Given the description of an element on the screen output the (x, y) to click on. 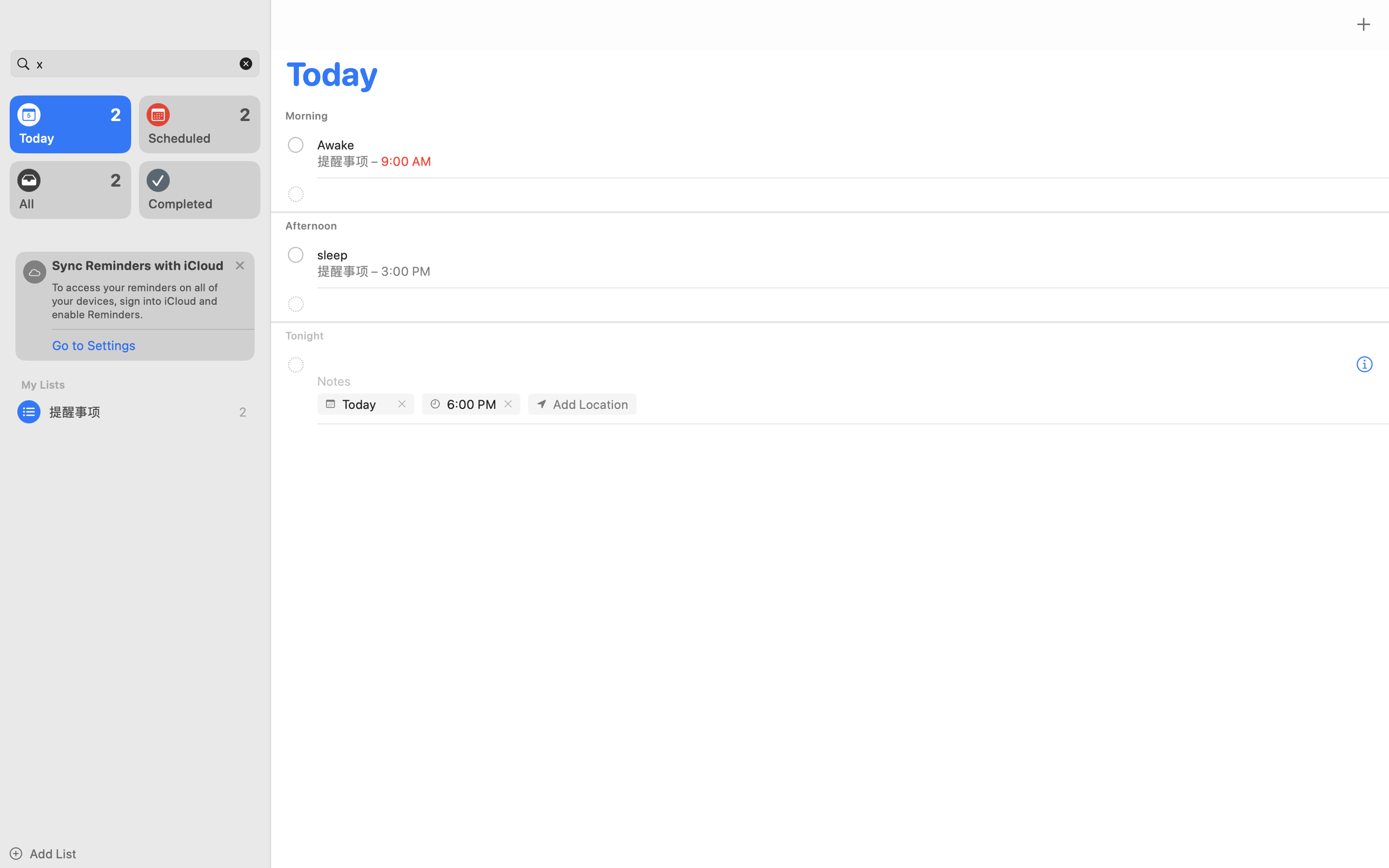
提醒事项 Element type: AXTextField (135, 411)
提醒事项 – 3:00 PM Element type: AXStaticText (374, 270)
To access your reminders on all of your devices, sign into iCloud and enable Reminders. Element type: AXStaticText (139, 300)
x Element type: AXTextField (134, 63)
